Given the description of an element on the screen output the (x, y) to click on. 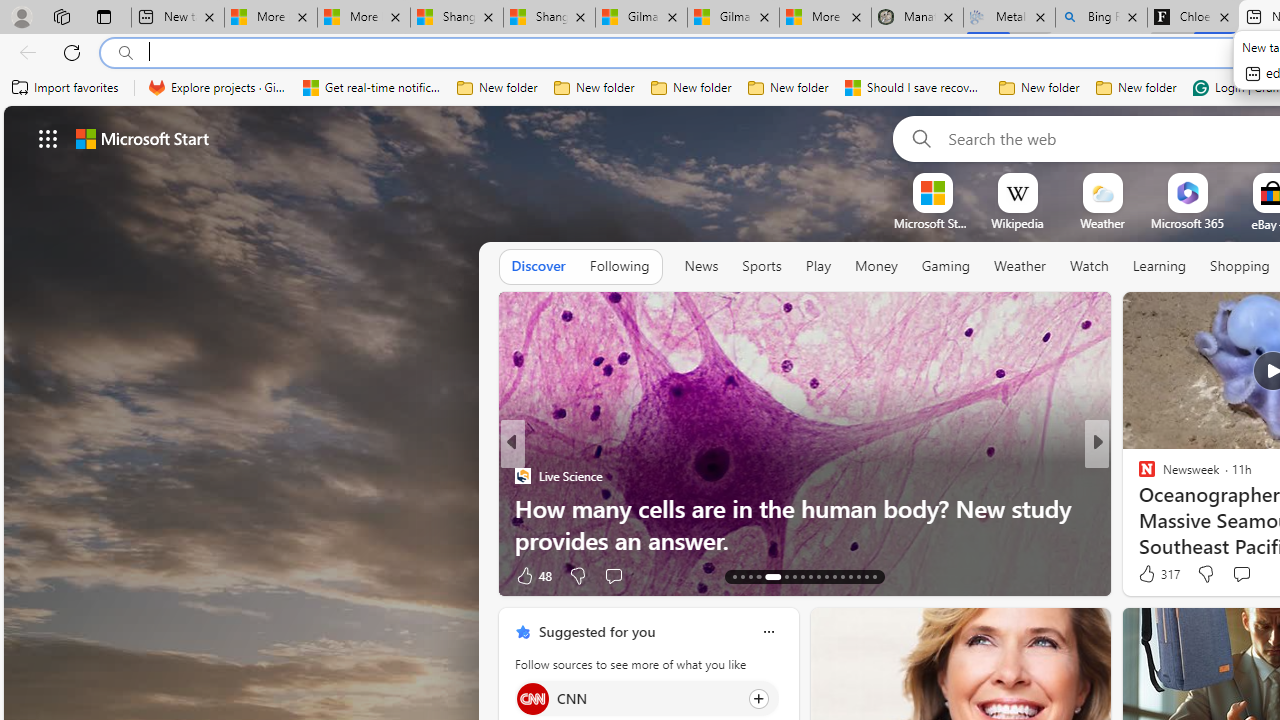
AutomationID: tab-36 (850, 576)
A Conscious Rethink (1138, 475)
Import favorites (65, 88)
Should I save recovered Word documents? - Microsoft Support (913, 88)
Weather (1020, 265)
AutomationID: tab-37 (857, 576)
CNN (532, 697)
View comments 49 Comment (1244, 574)
11 Like (1149, 574)
Weather (1019, 267)
Sports (761, 265)
View comments 16 Comment (1234, 575)
Play (818, 267)
View comments 49 Comment (1234, 575)
